Given the description of an element on the screen output the (x, y) to click on. 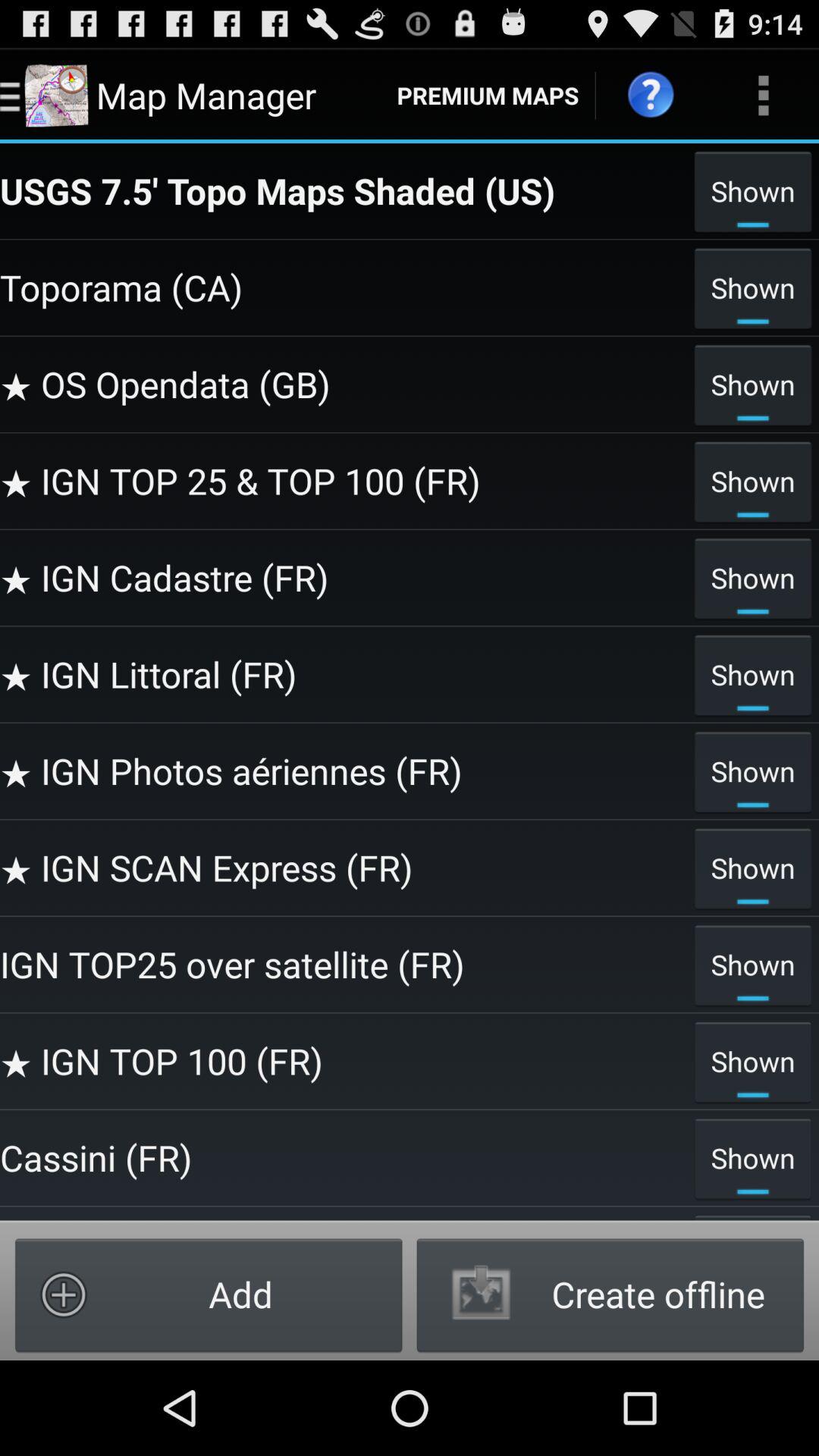
flip to the premium maps (487, 95)
